Given the description of an element on the screen output the (x, y) to click on. 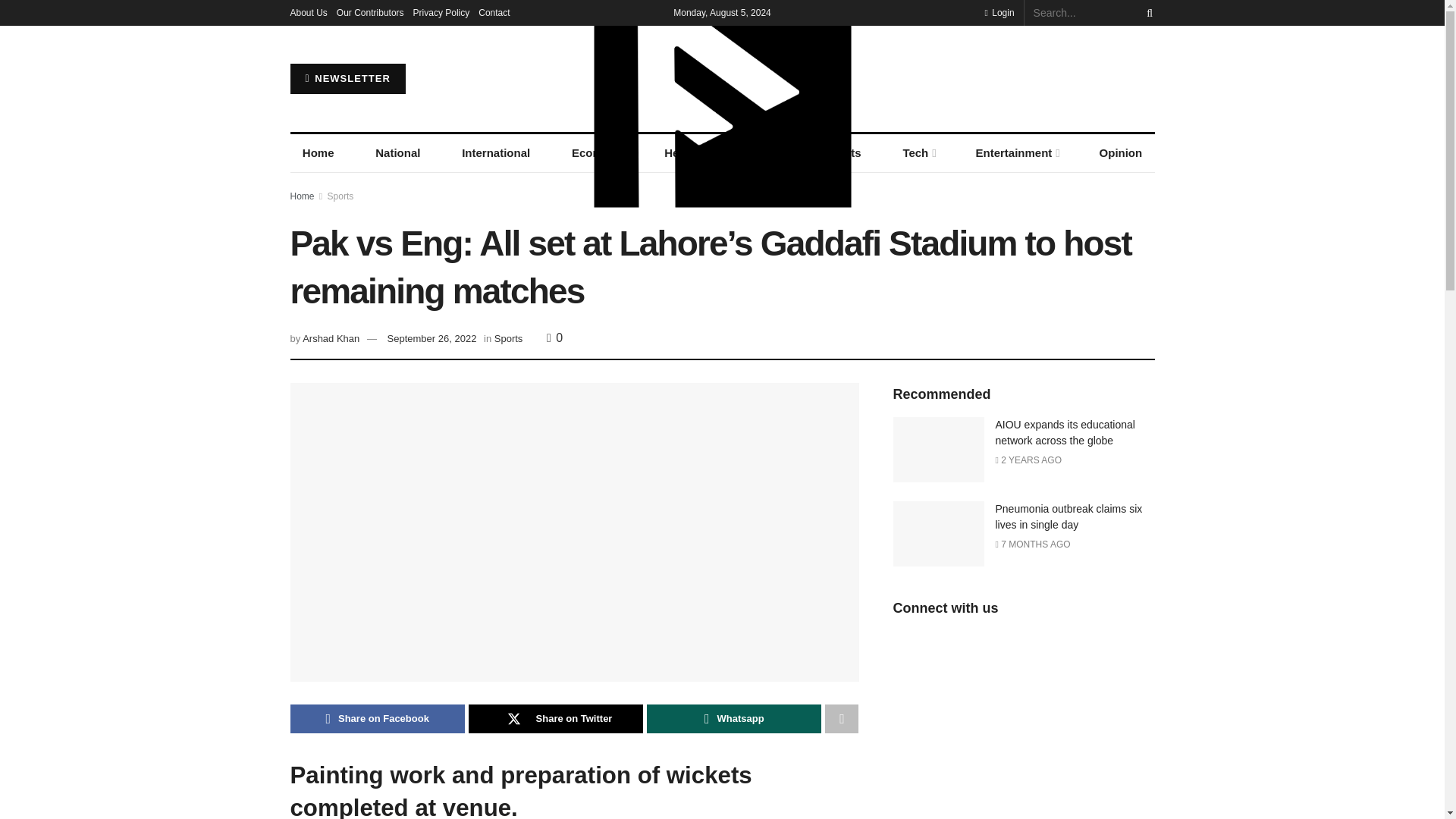
Contact (494, 12)
Tech (917, 152)
About Us (307, 12)
Login (998, 12)
Economy (596, 152)
Privacy Policy (441, 12)
National (397, 152)
Science (761, 152)
Entertainment (1016, 152)
Our Contributors (370, 12)
Sports (842, 152)
International (496, 152)
Home (317, 152)
NEWSLETTER (346, 78)
Health (681, 152)
